Given the description of an element on the screen output the (x, y) to click on. 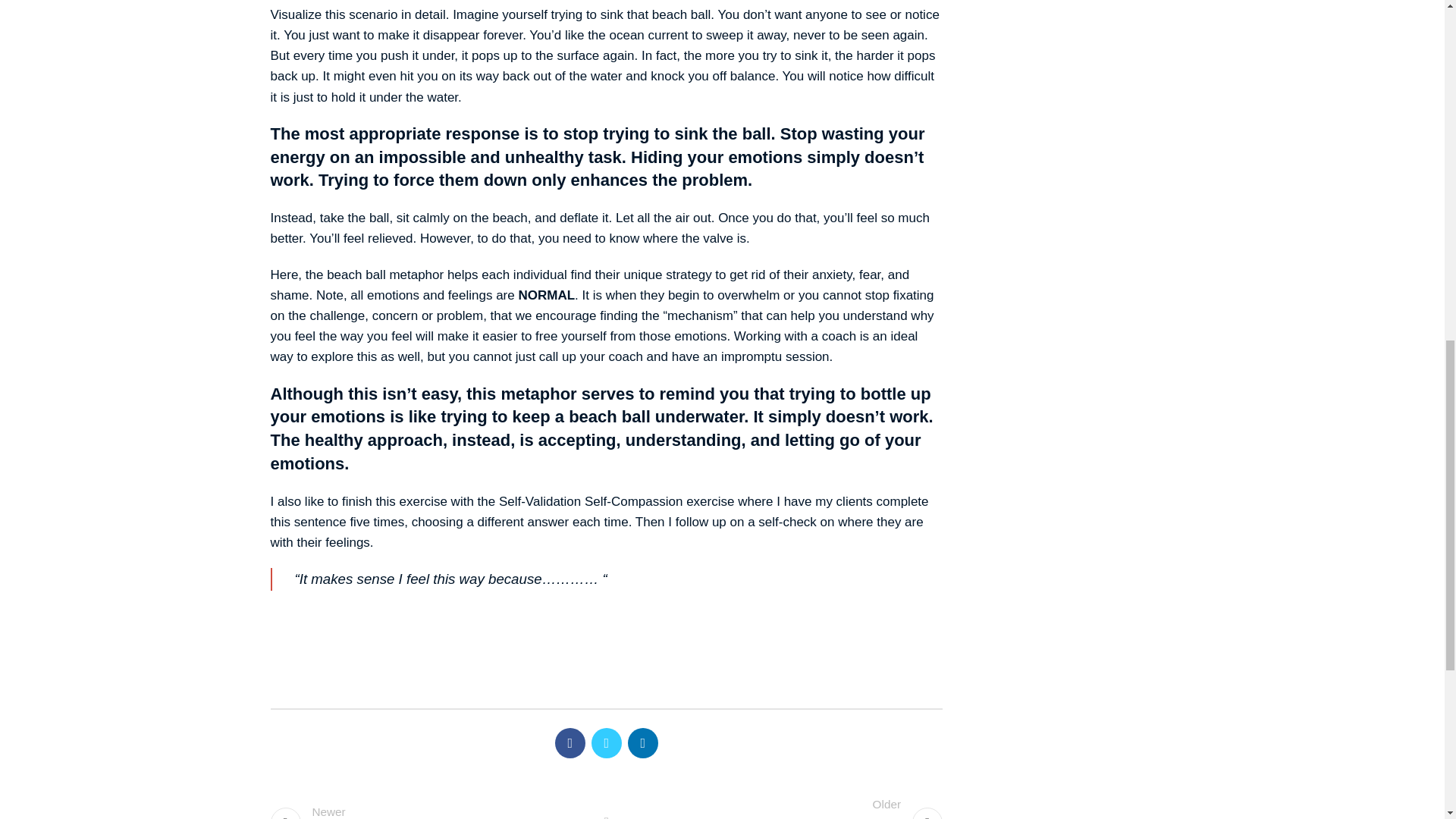
Back to list (430, 801)
